Given the description of an element on the screen output the (x, y) to click on. 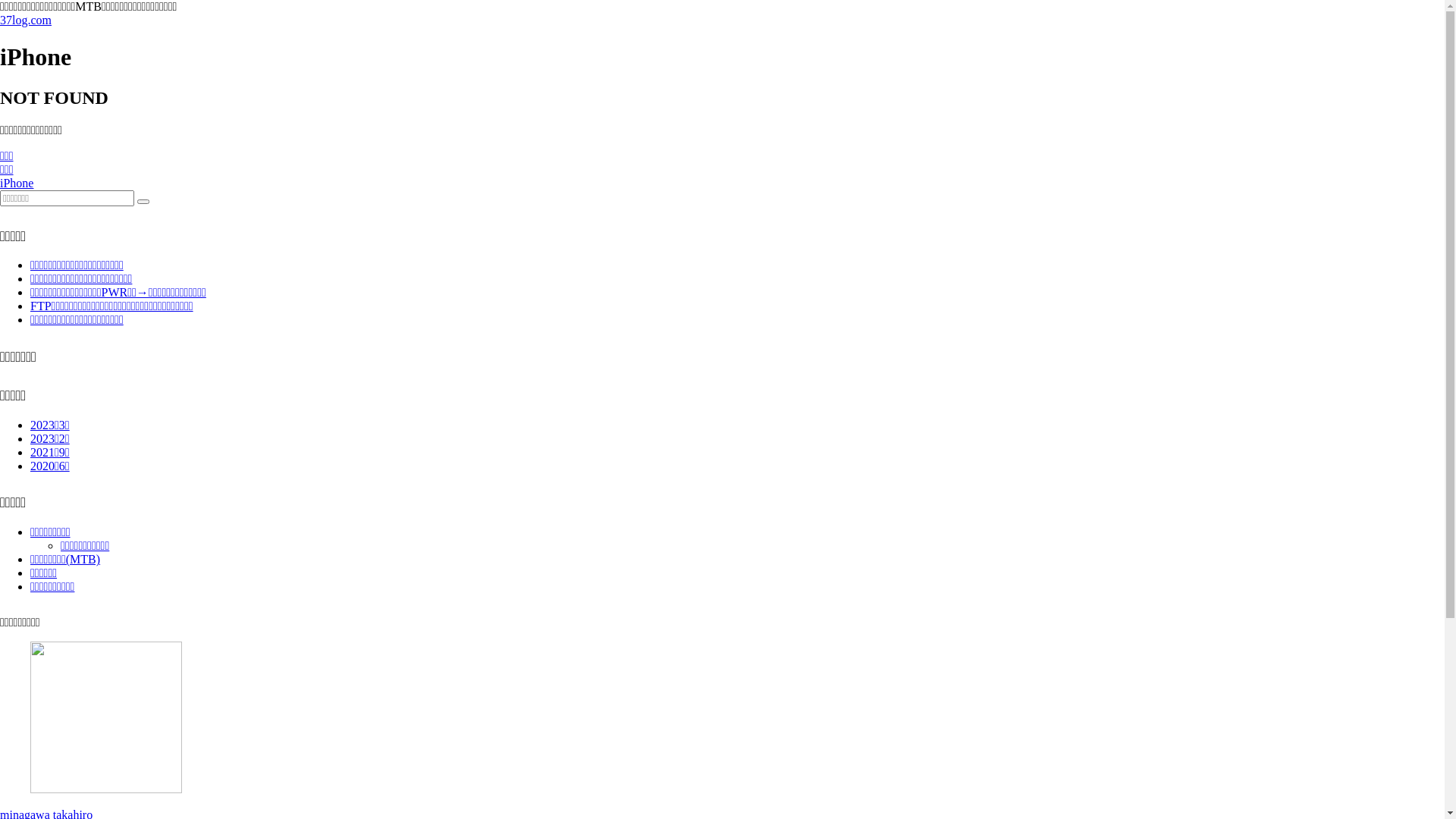
37log.com Element type: text (25, 19)
iPhone Element type: text (16, 182)
